Given the description of an element on the screen output the (x, y) to click on. 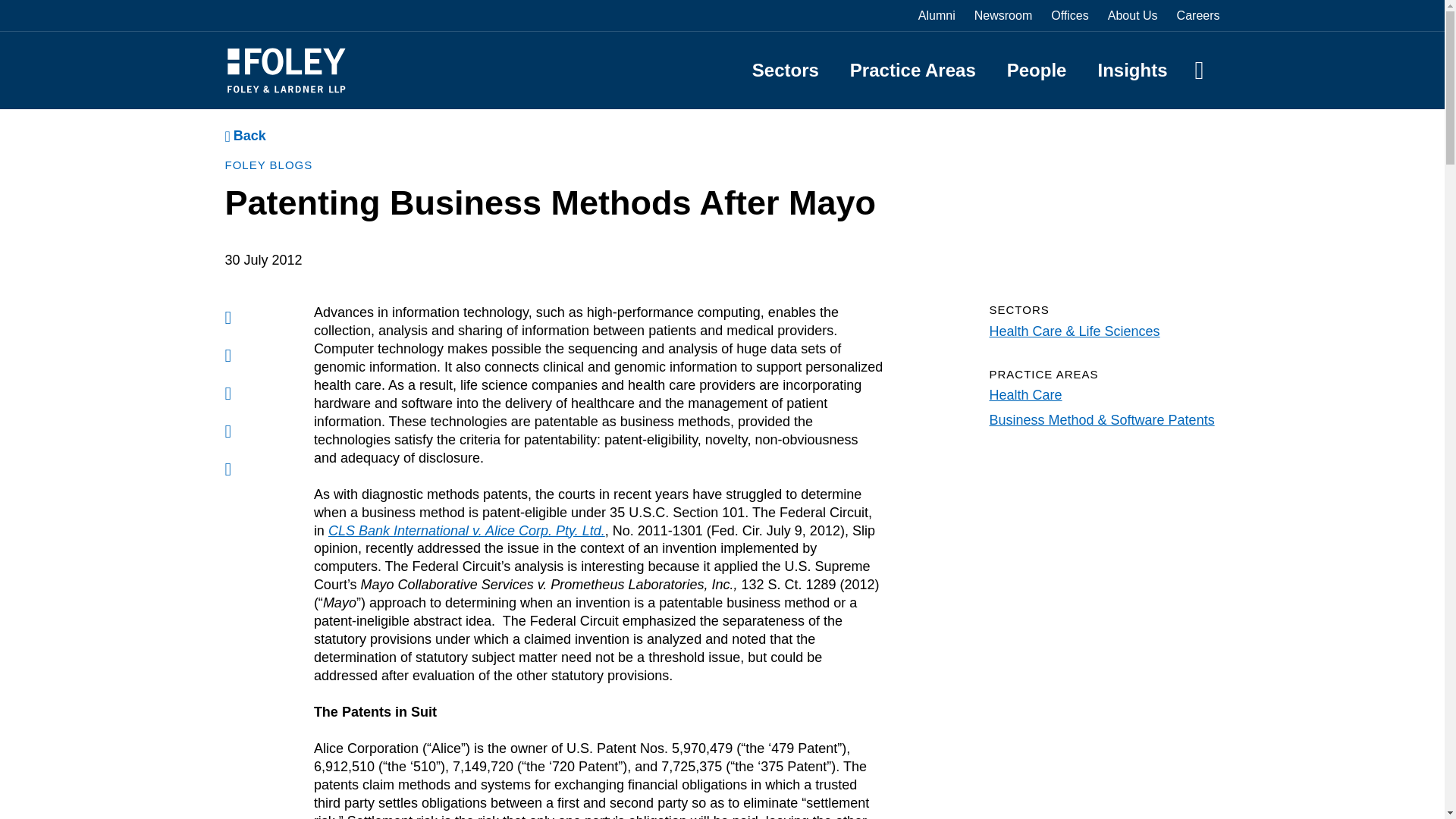
Back (244, 136)
People (1037, 70)
Practice Areas (912, 70)
FOLEY BLOGS (268, 164)
CLS Bank International v. Alice Corp. Pty. Ltd. (467, 530)
About Us (1132, 15)
Health Care (1024, 394)
Careers (1198, 15)
Offices (1070, 15)
Alumni (936, 15)
